Given the description of an element on the screen output the (x, y) to click on. 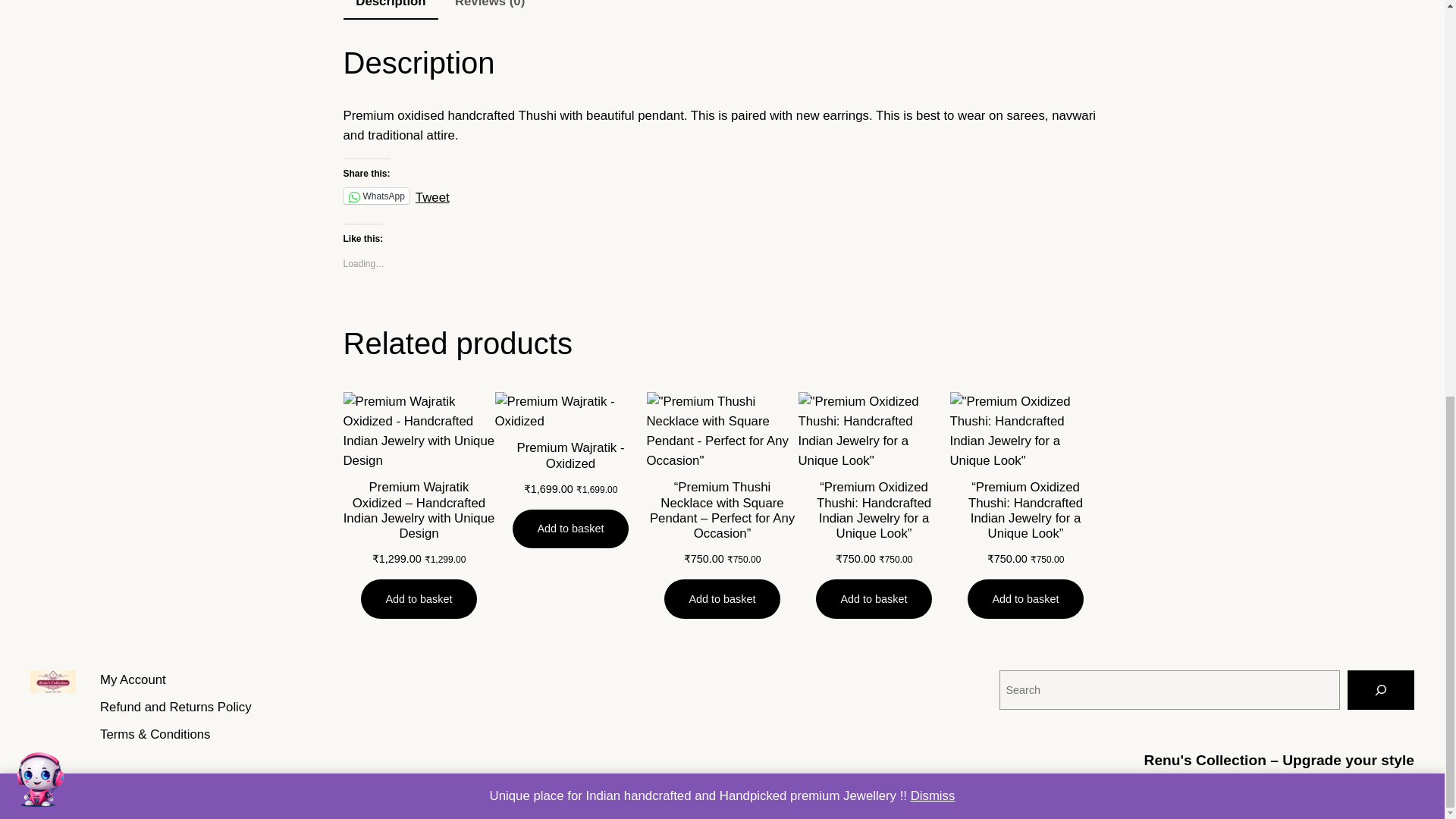
Description (390, 9)
Tweet (431, 194)
WhatsApp (375, 195)
Click to share on WhatsApp (375, 195)
